Given the description of an element on the screen output the (x, y) to click on. 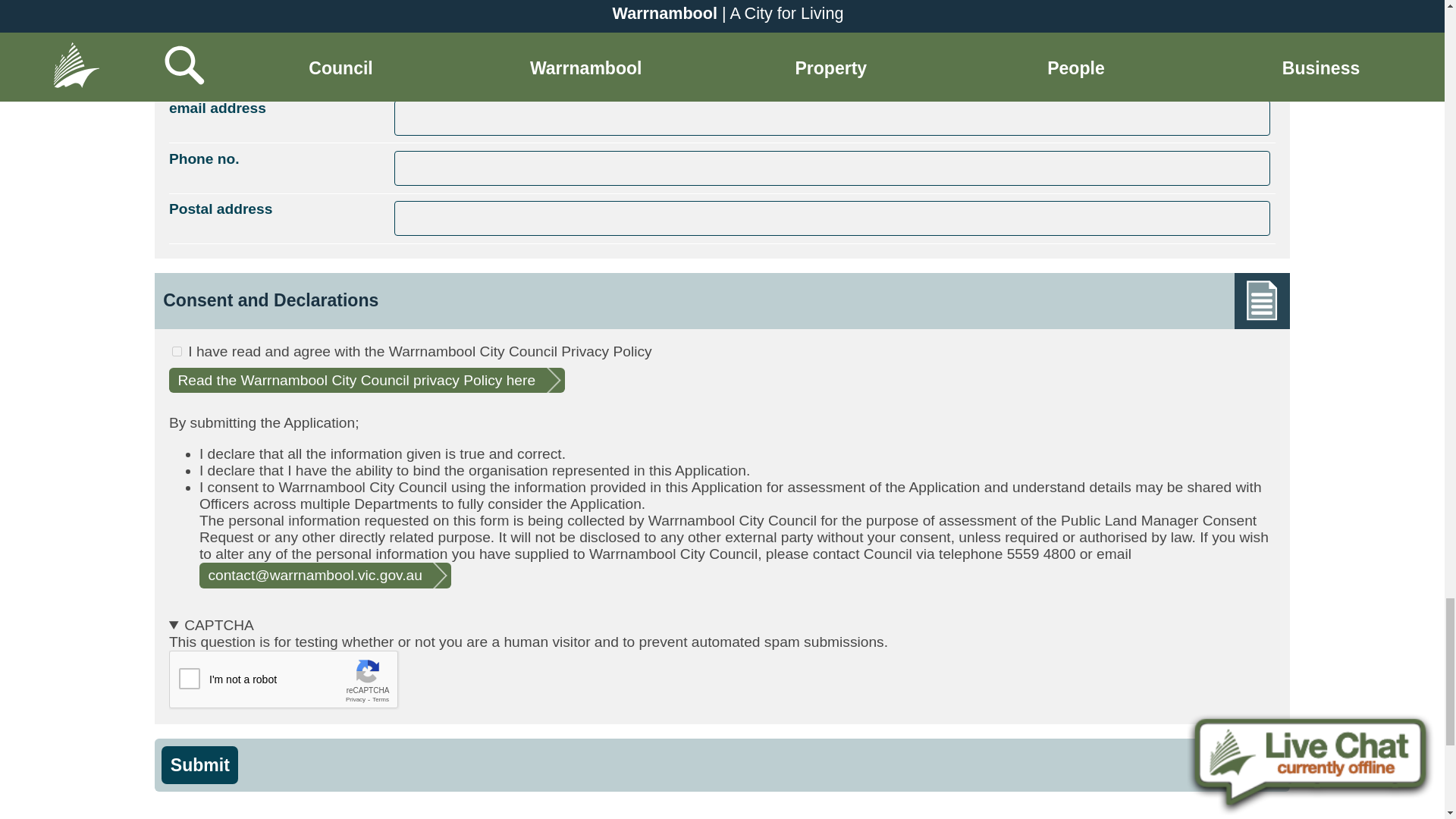
1 (176, 351)
reCAPTCHA (283, 680)
Submit (199, 764)
